Given the description of an element on the screen output the (x, y) to click on. 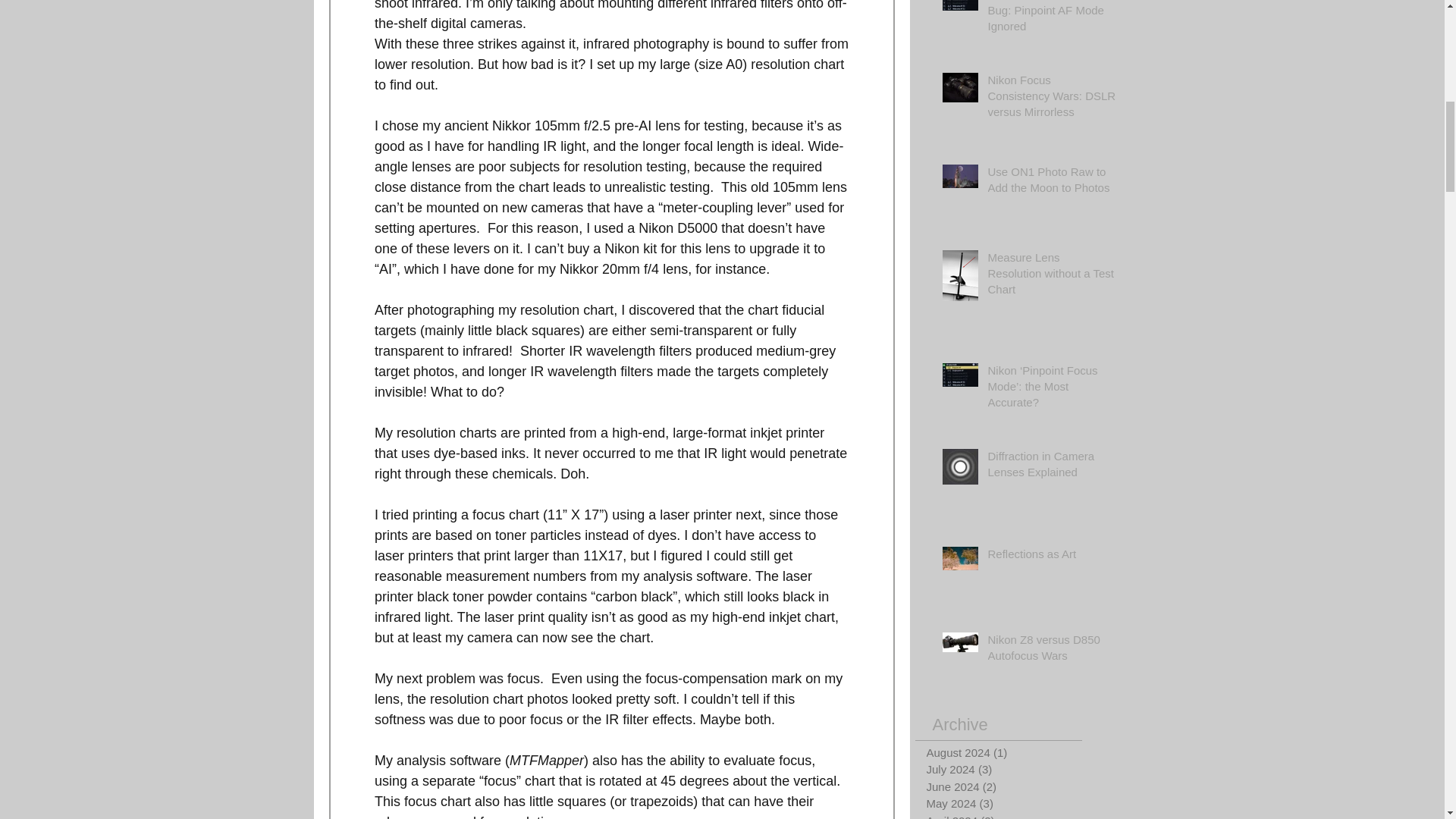
Reflections as Art (1051, 557)
Diffraction in Camera Lenses Explained (1051, 466)
Measure Lens Resolution without a Test Chart (1051, 276)
Nikon Focus Consistency Wars: DSLR versus Mirrorless (1051, 99)
Nikon Z8 versus D850 Autofocus Wars (1051, 650)
Nikon Z8,Z9 Firmware Bug: Pinpoint AF Mode Ignored (1051, 20)
Use ON1 Photo Raw to Add the Moon to Photos (1051, 182)
